Given the description of an element on the screen output the (x, y) to click on. 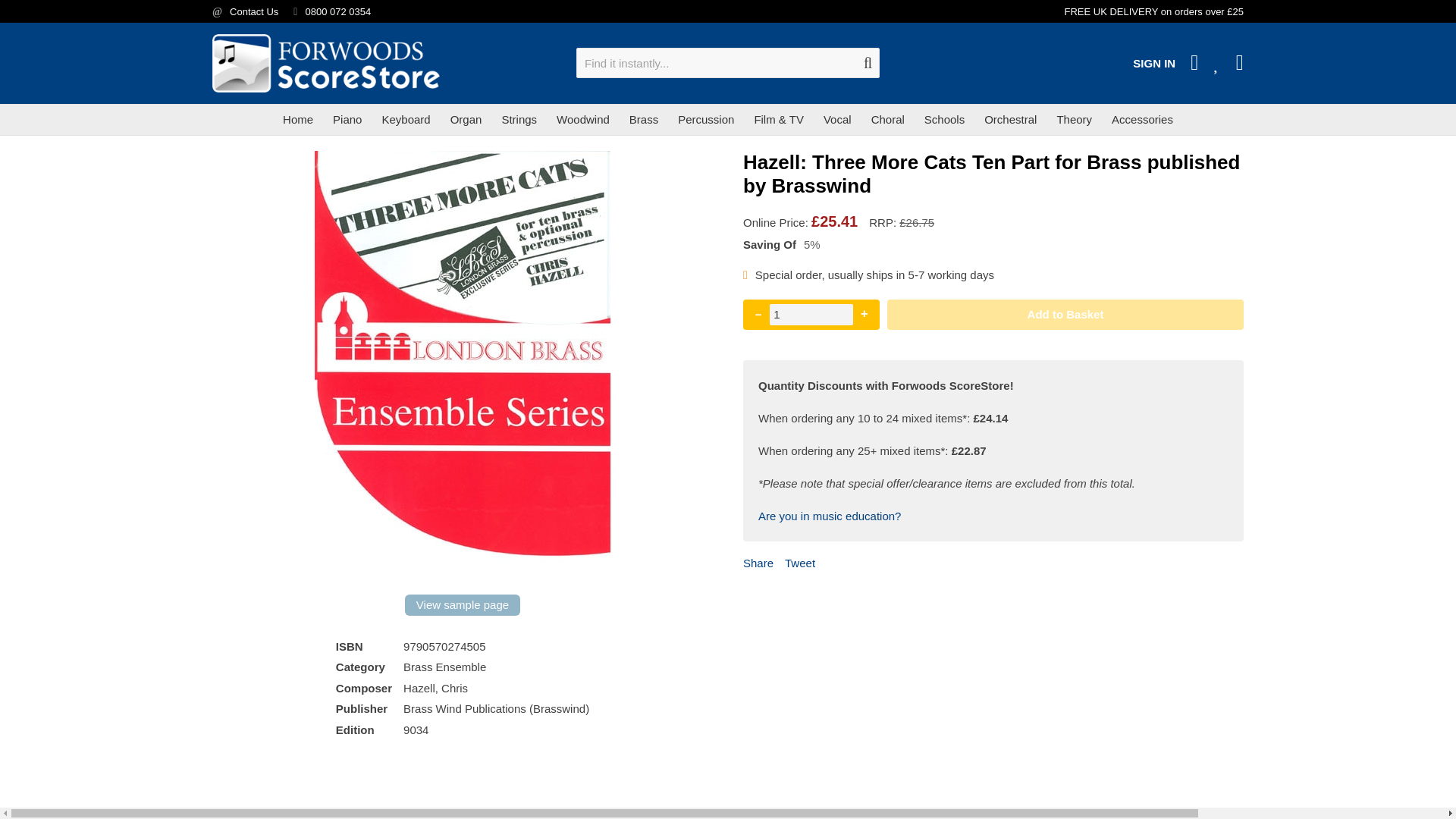
Piano (347, 119)
Special order, usually ships in 5-7 working days (745, 275)
0800 072 0354 (337, 11)
1 (811, 314)
Contact Us (254, 11)
Home (298, 119)
SIGN IN (1153, 62)
Go (867, 62)
